Given the description of an element on the screen output the (x, y) to click on. 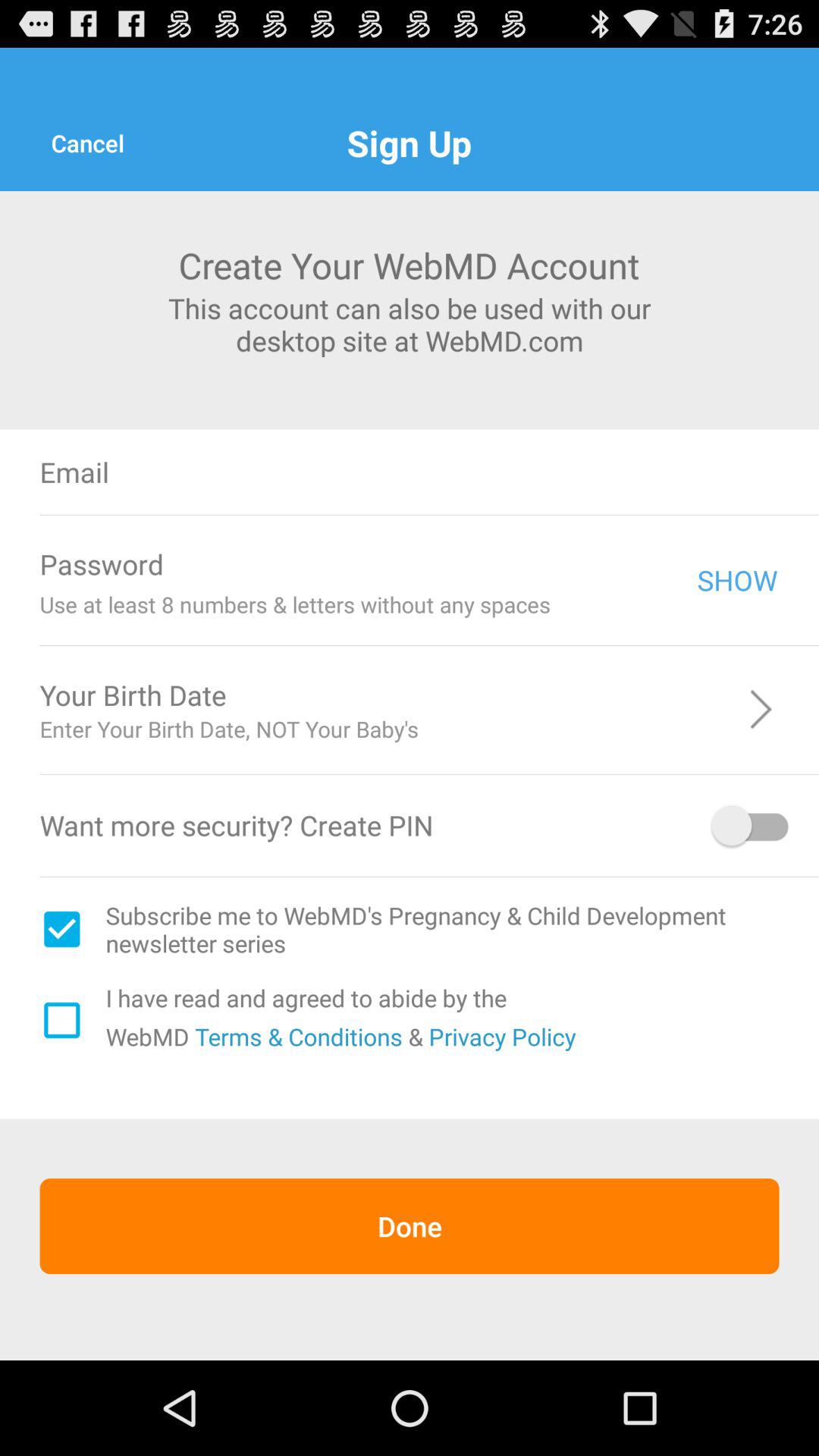
press icon to the right of the password icon (439, 564)
